Given the description of an element on the screen output the (x, y) to click on. 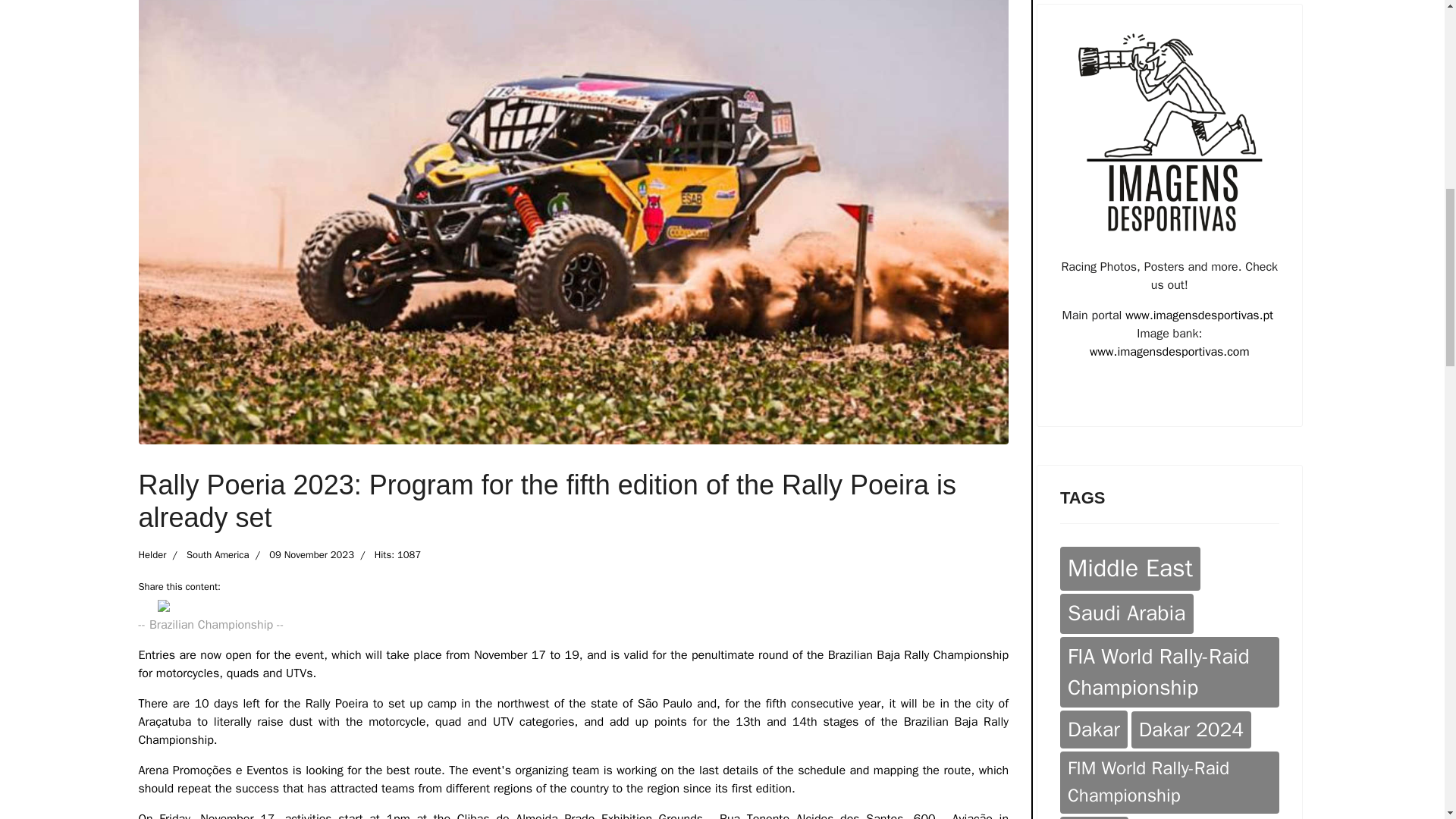
Published: 09 November 2023 (300, 554)
South America (217, 554)
Published on RRN by: Helder (151, 554)
Category: South America (206, 554)
